Given the description of an element on the screen output the (x, y) to click on. 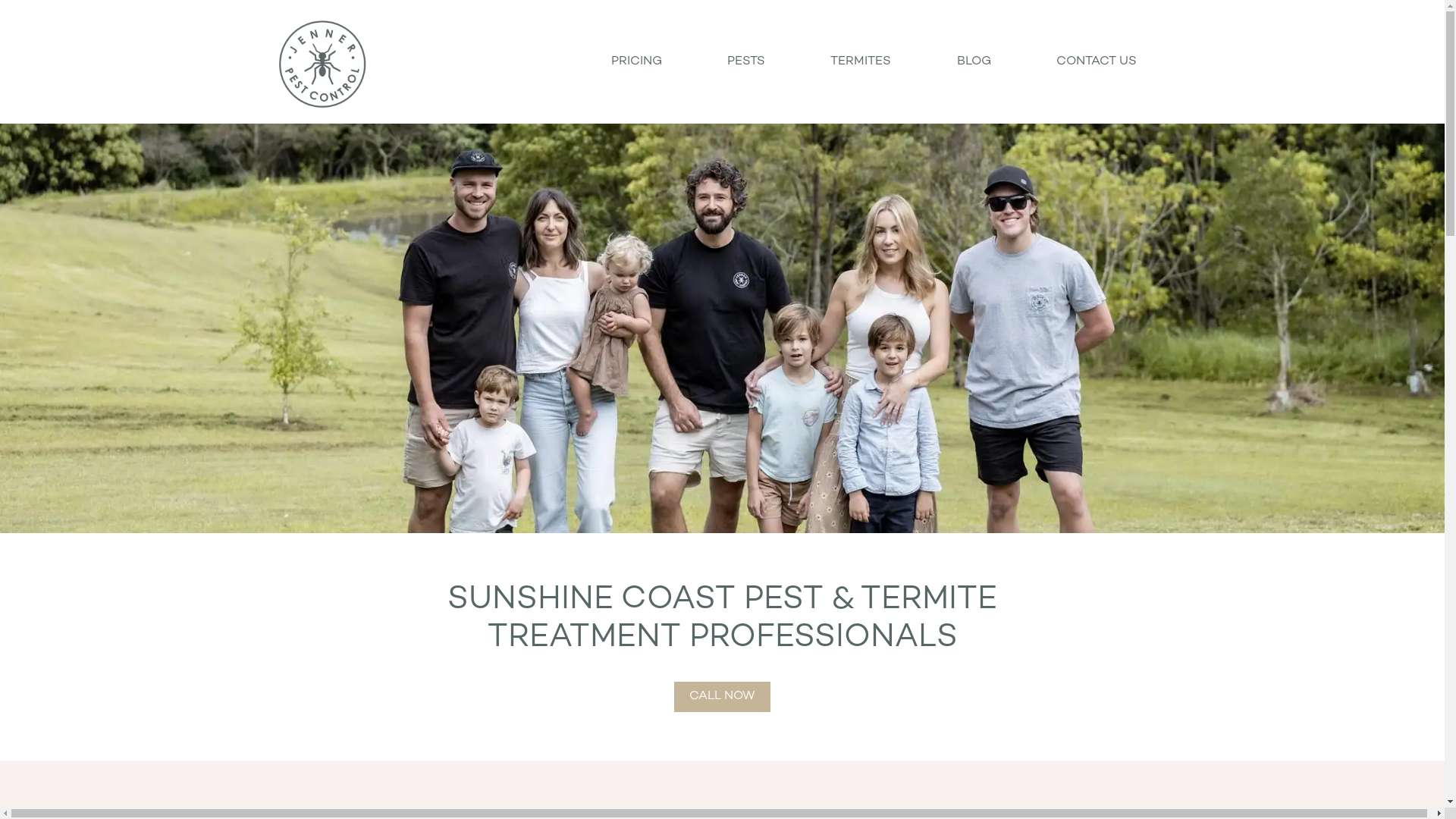
PESTS Element type: text (745, 61)
PRICING Element type: text (635, 61)
TERMITES Element type: text (860, 61)
CONTACT US Element type: text (1096, 61)
CALL NOW Element type: text (722, 696)
BLOG Element type: text (973, 61)
